Given the description of an element on the screen output the (x, y) to click on. 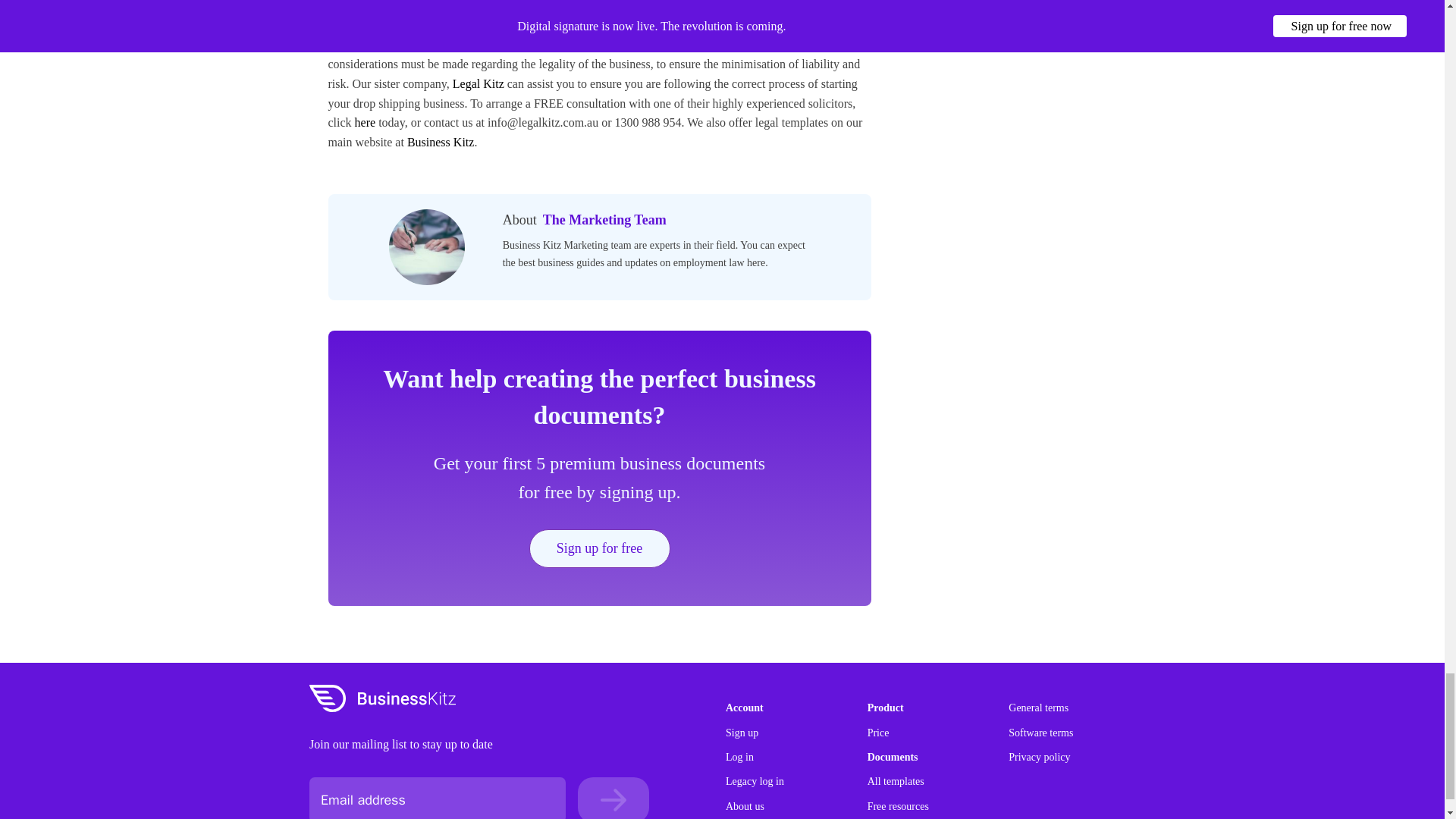
About us (744, 806)
Price (878, 733)
Software terms (1041, 733)
Business Kitz (440, 141)
Legal Kitz (477, 83)
 here (363, 122)
Sign up (741, 733)
Legacy log in (754, 781)
Free resources (897, 806)
All templates (895, 781)
